Given the description of an element on the screen output the (x, y) to click on. 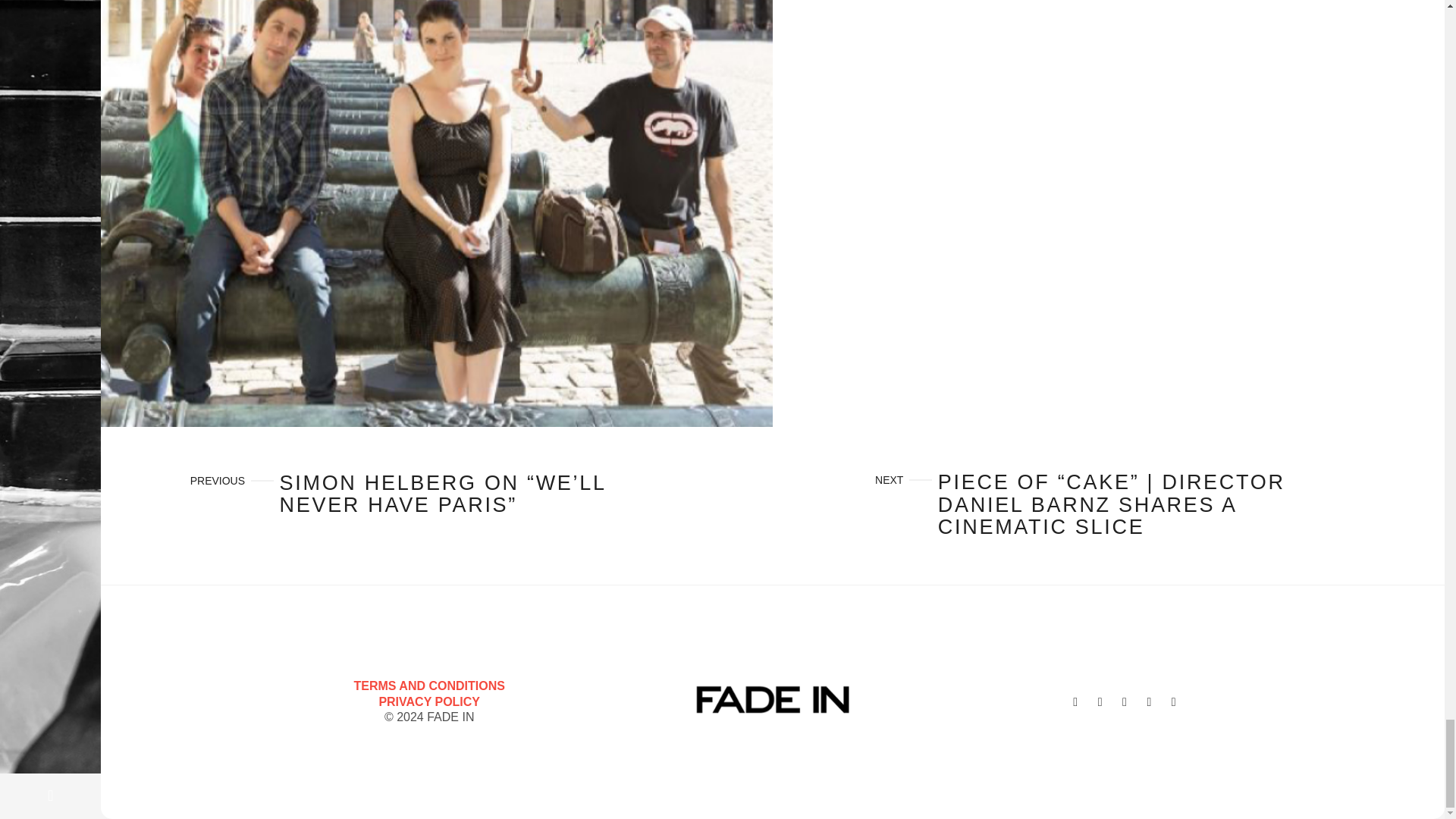
Instagram (1099, 701)
Twitter (1075, 701)
Vimeo (1148, 701)
Fadeinonline (772, 699)
RSS (1174, 701)
Youtube (1124, 701)
